Given the description of an element on the screen output the (x, y) to click on. 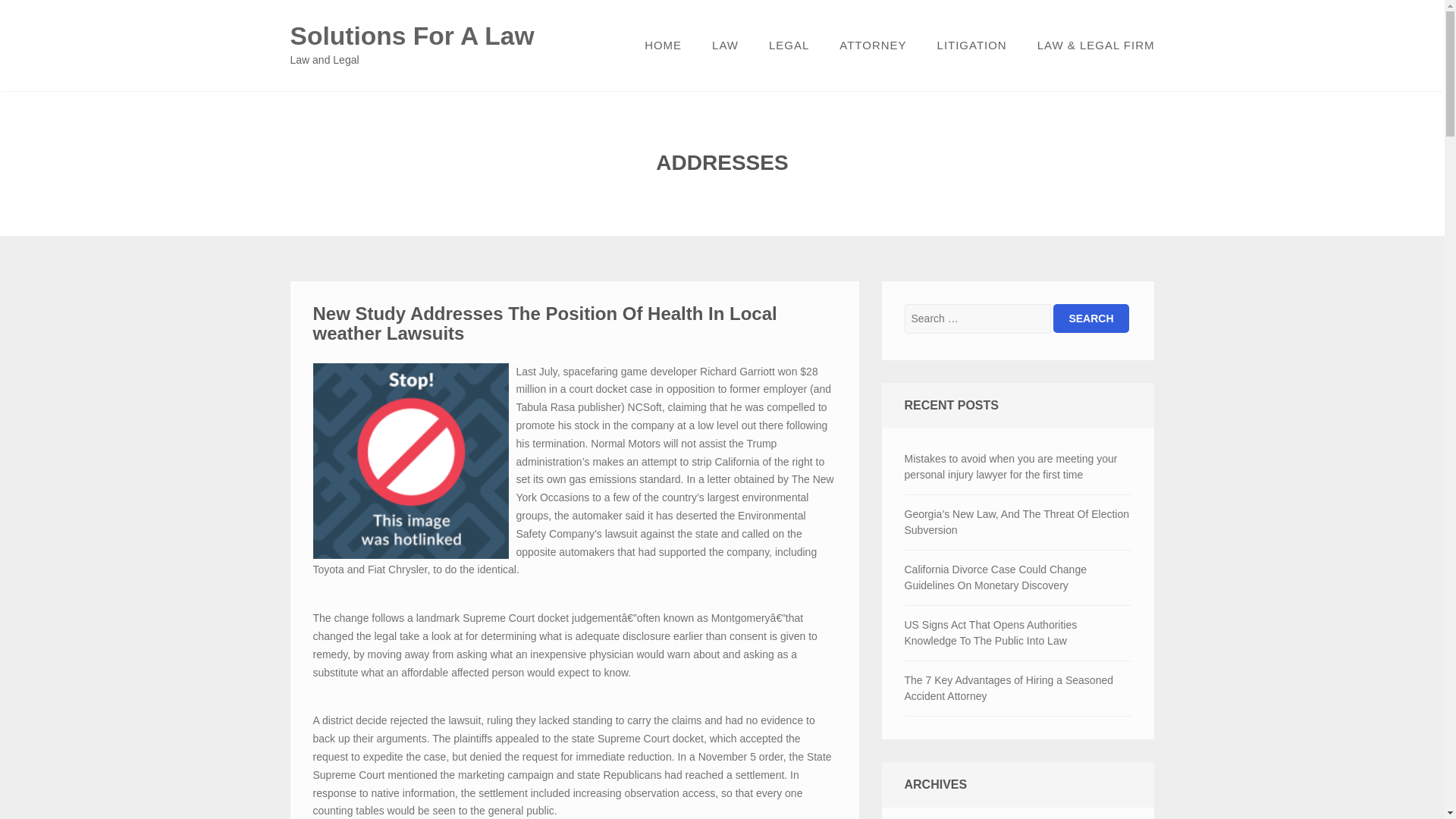
Search (1090, 317)
The 7 Key Advantages of Hiring a Seasoned Accident Attorney (1017, 687)
LITIGATION (971, 45)
ATTORNEY (872, 45)
Search (1090, 317)
Search (1090, 317)
Solutions For A Law (411, 35)
